Given the description of an element on the screen output the (x, y) to click on. 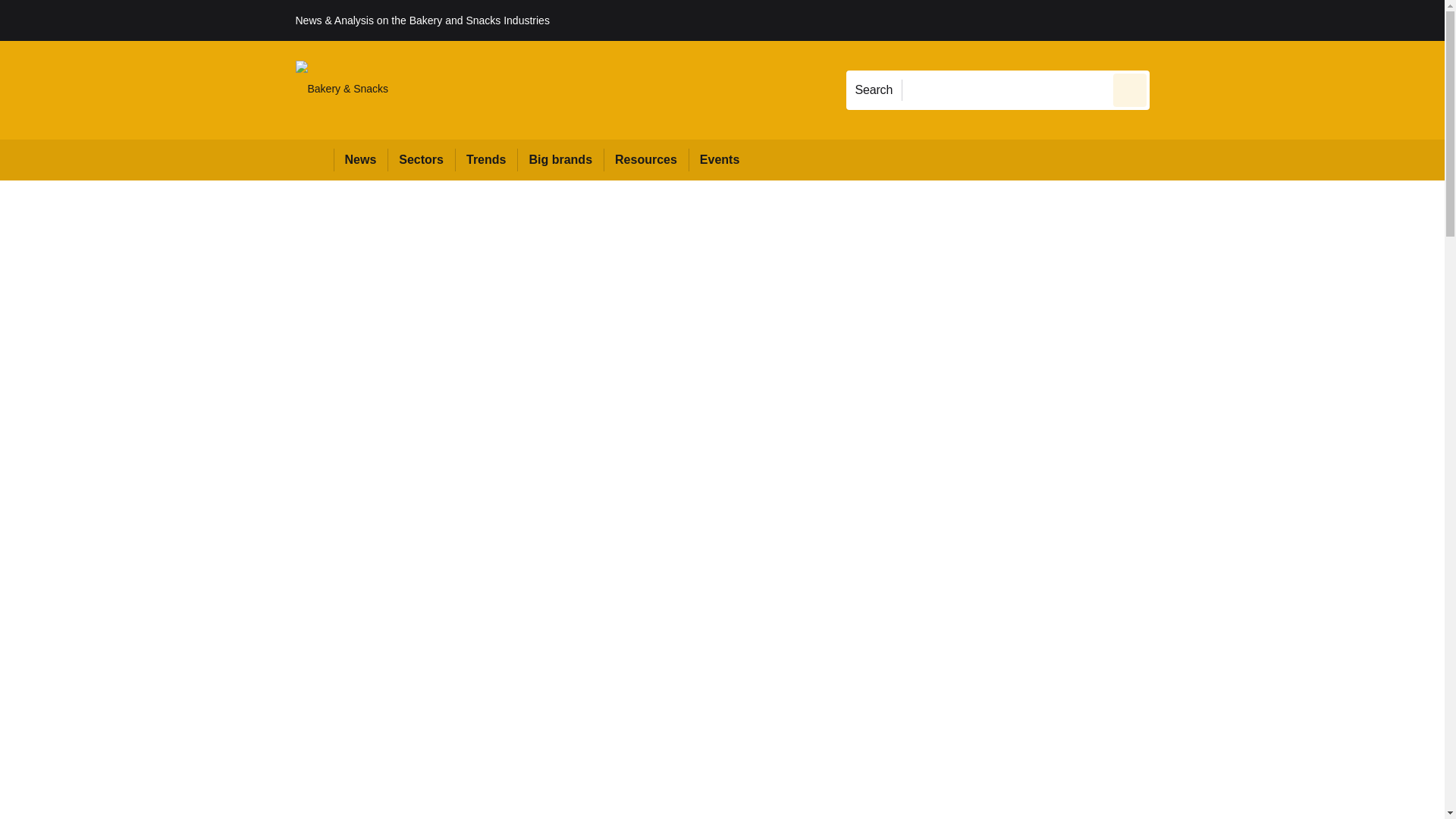
Sign out (1174, 20)
Sectors (420, 159)
Send (1129, 89)
Home (313, 159)
Home (314, 159)
News (360, 159)
Send (1129, 90)
Sign in (1171, 20)
REGISTER (1250, 20)
My account (1256, 20)
